Given the description of an element on the screen output the (x, y) to click on. 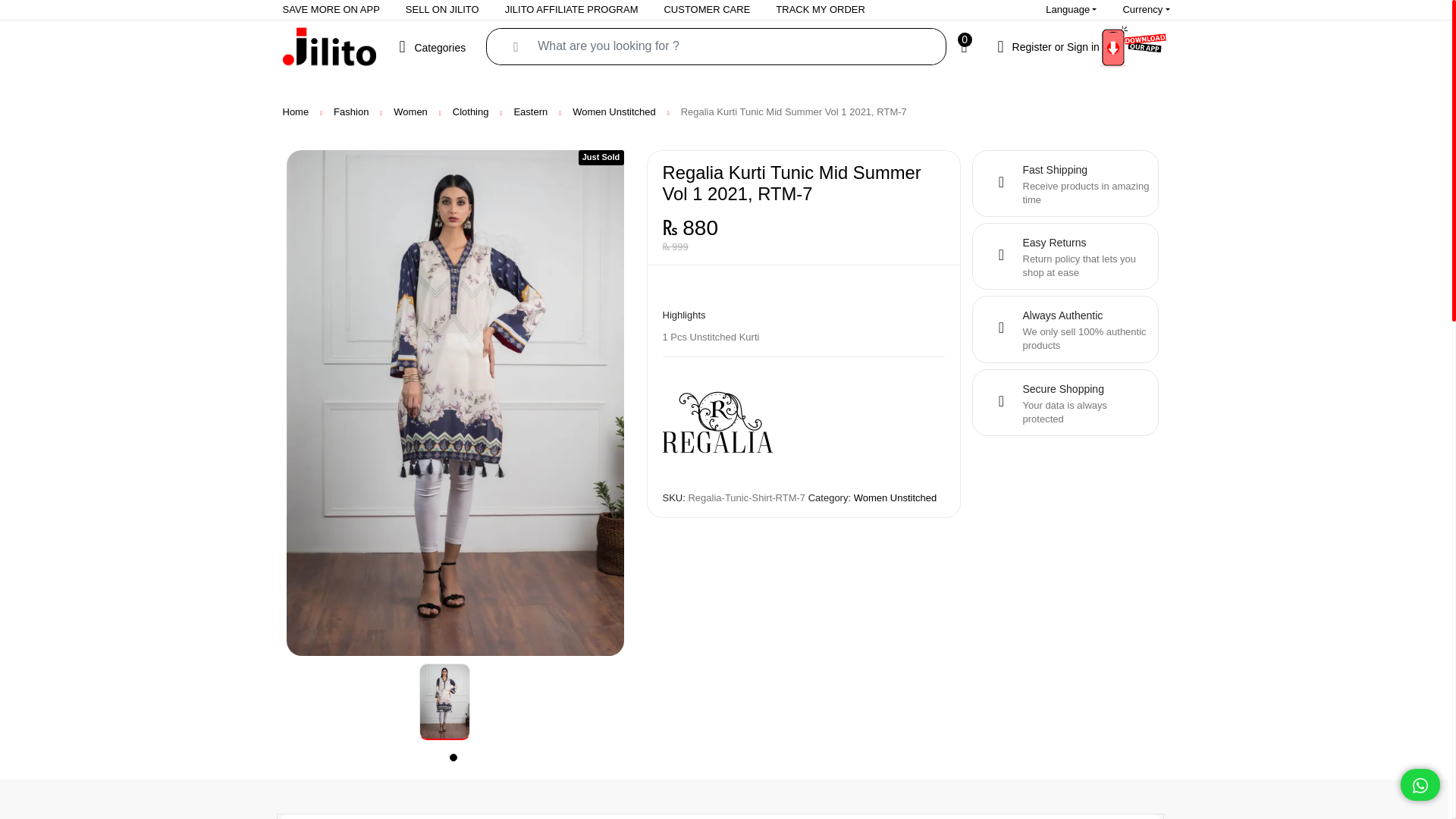
JILITO AFFILIATE PROGRAM (571, 9)
SAVE MORE ON APP (331, 9)
TRACK MY ORDER (819, 9)
SELL ON JILITO (442, 9)
CUSTOMER CARE (706, 9)
Language (1070, 9)
Currency (1145, 9)
Regalia (719, 424)
Categories (436, 45)
